Given the description of an element on the screen output the (x, y) to click on. 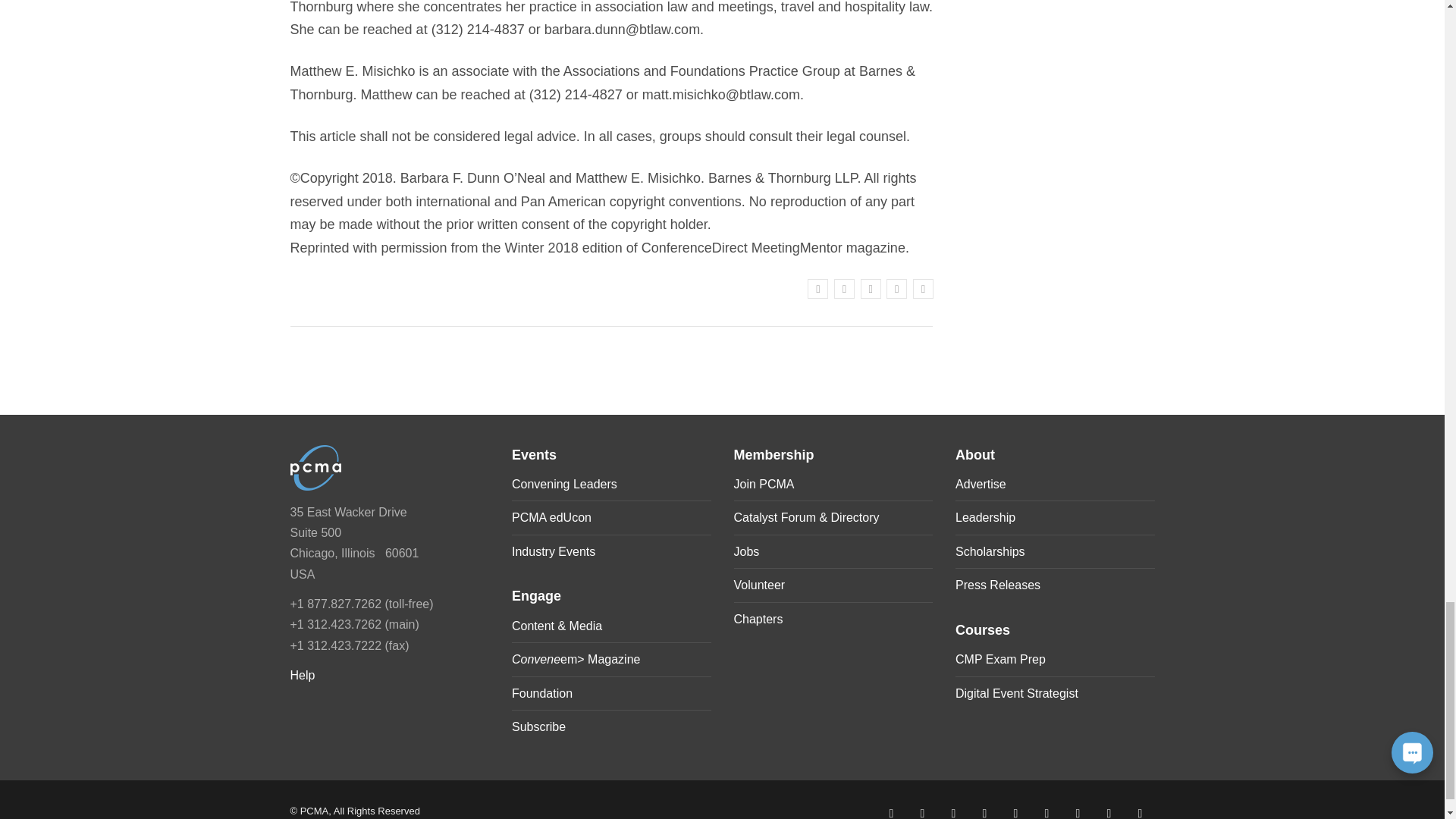
Help (301, 675)
PCMA edUcon (551, 517)
Industry Events (553, 551)
Convening Leaders (564, 483)
